Given the description of an element on the screen output the (x, y) to click on. 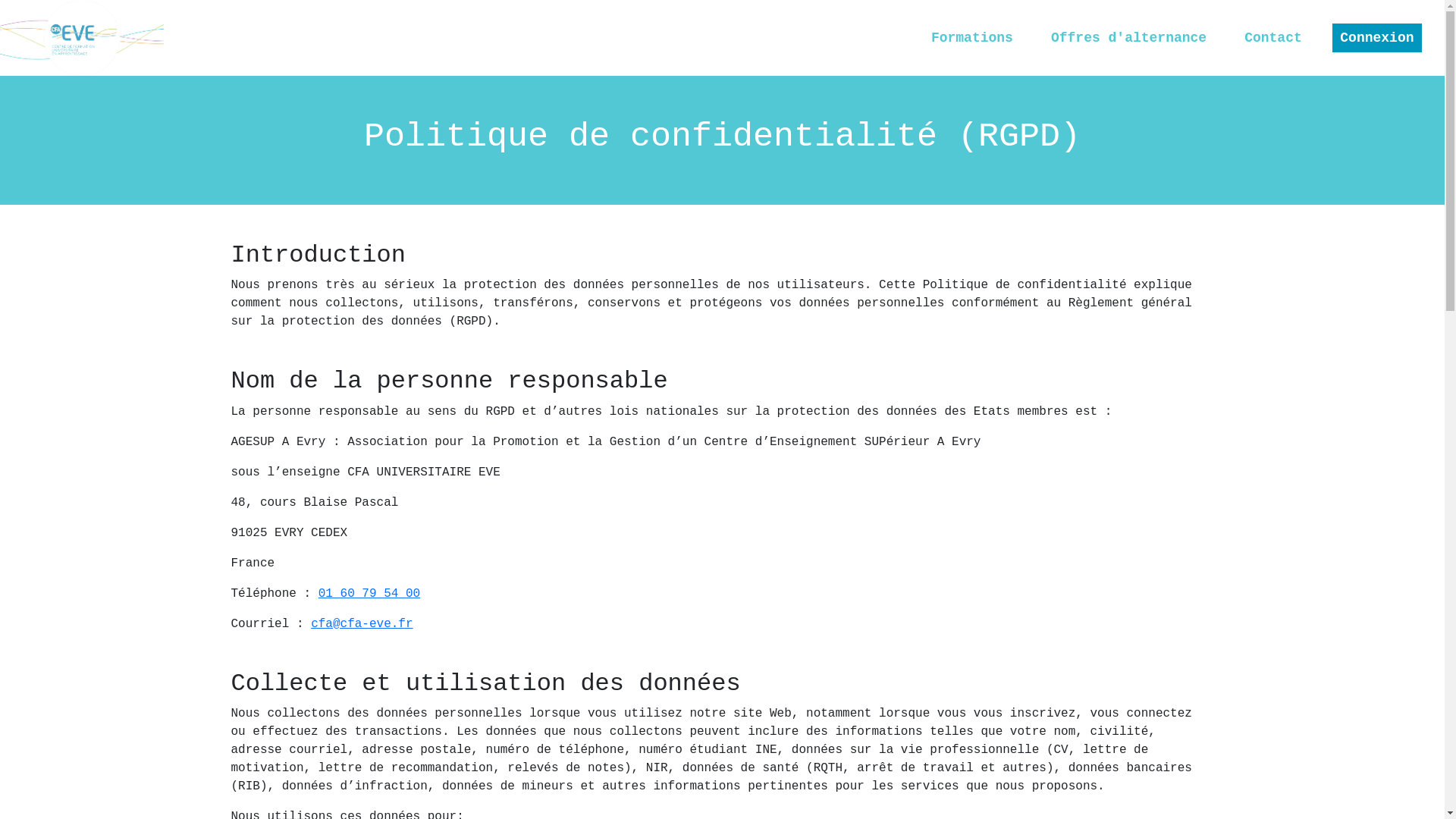
Formations Element type: text (971, 38)
cfa@cfa-eve.fr Element type: text (361, 623)
Contact Element type: text (1272, 38)
Connexion Element type: text (1376, 37)
Offres d'alternance Element type: text (1128, 38)
01 60 79 54 00 Element type: text (369, 593)
